Given the description of an element on the screen output the (x, y) to click on. 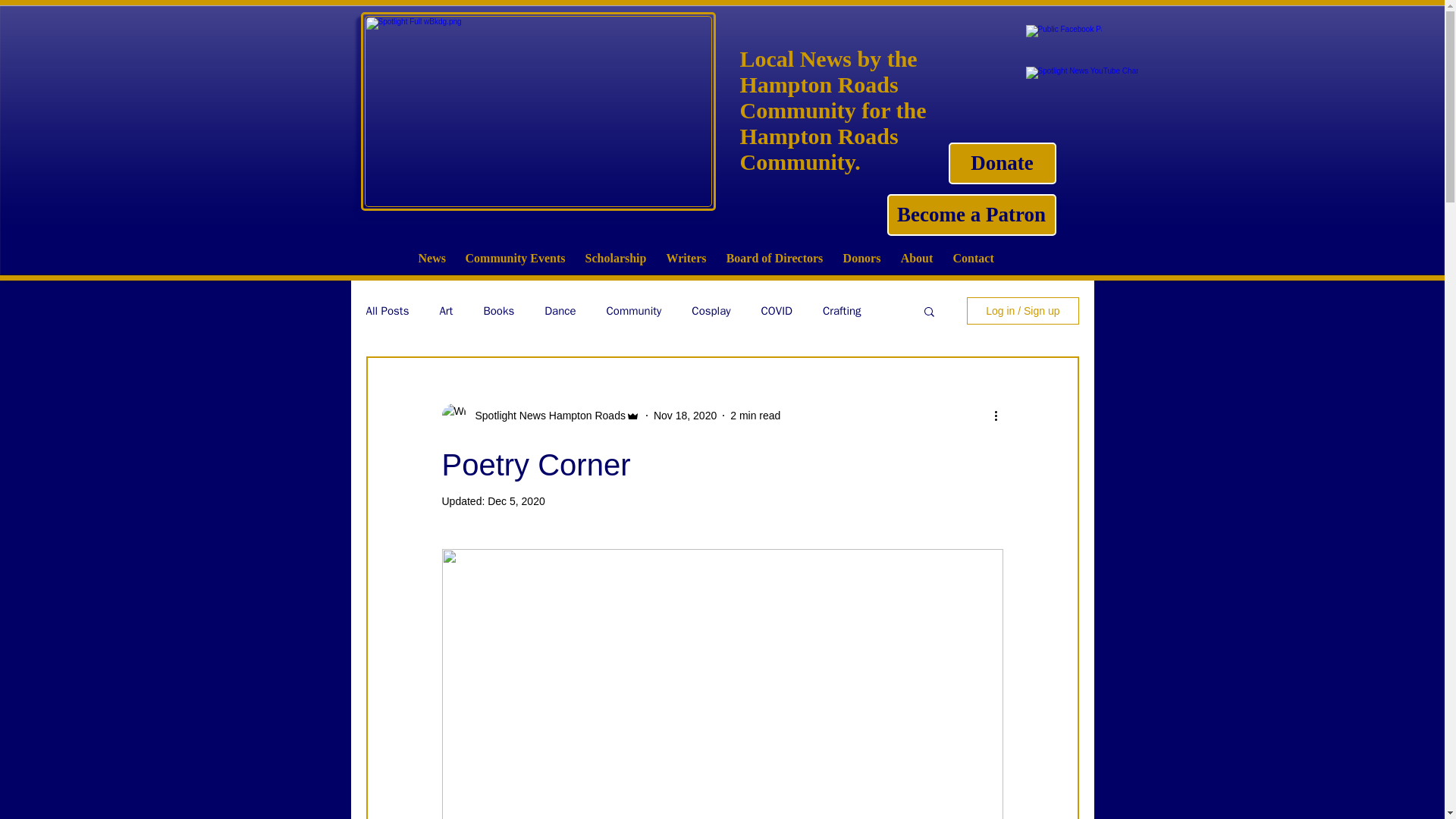
COVID (776, 310)
All Posts (387, 310)
Nov 18, 2020 (684, 415)
Dance (559, 310)
Community (634, 310)
Writers (686, 257)
Books (498, 310)
Crafting (841, 310)
Cosplay (710, 310)
Donate (1001, 163)
Donors (860, 257)
Scholarship (615, 257)
Art (445, 310)
About (915, 257)
Community Events (514, 257)
